Given the description of an element on the screen output the (x, y) to click on. 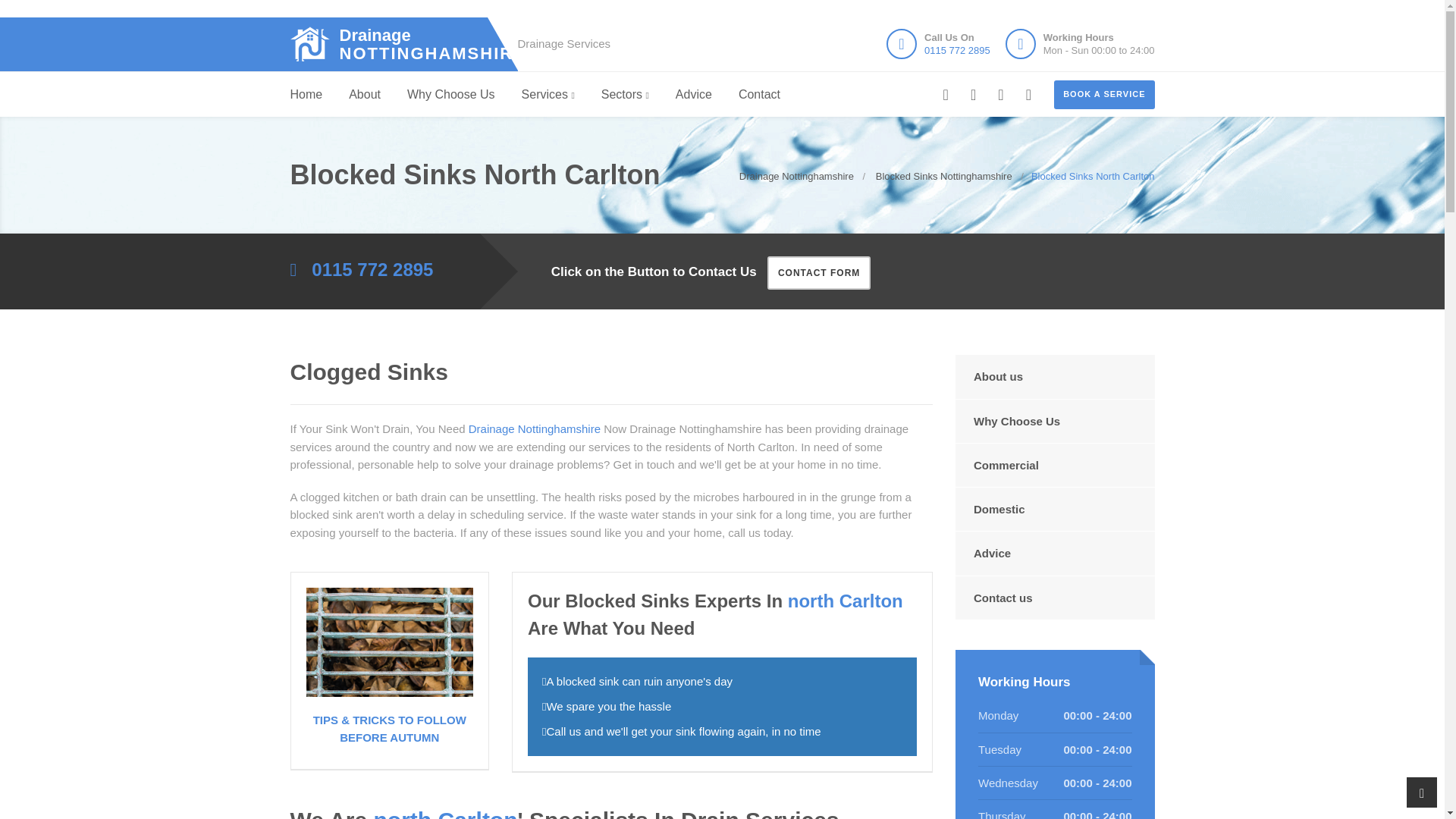
Services (548, 94)
Why Choose Us (395, 44)
About (451, 94)
BOOK A SERVICE (364, 94)
Home (1104, 94)
Sectors (305, 94)
0115 772 2895 (625, 94)
Drainage Nottinghamshire (957, 50)
